Given the description of an element on the screen output the (x, y) to click on. 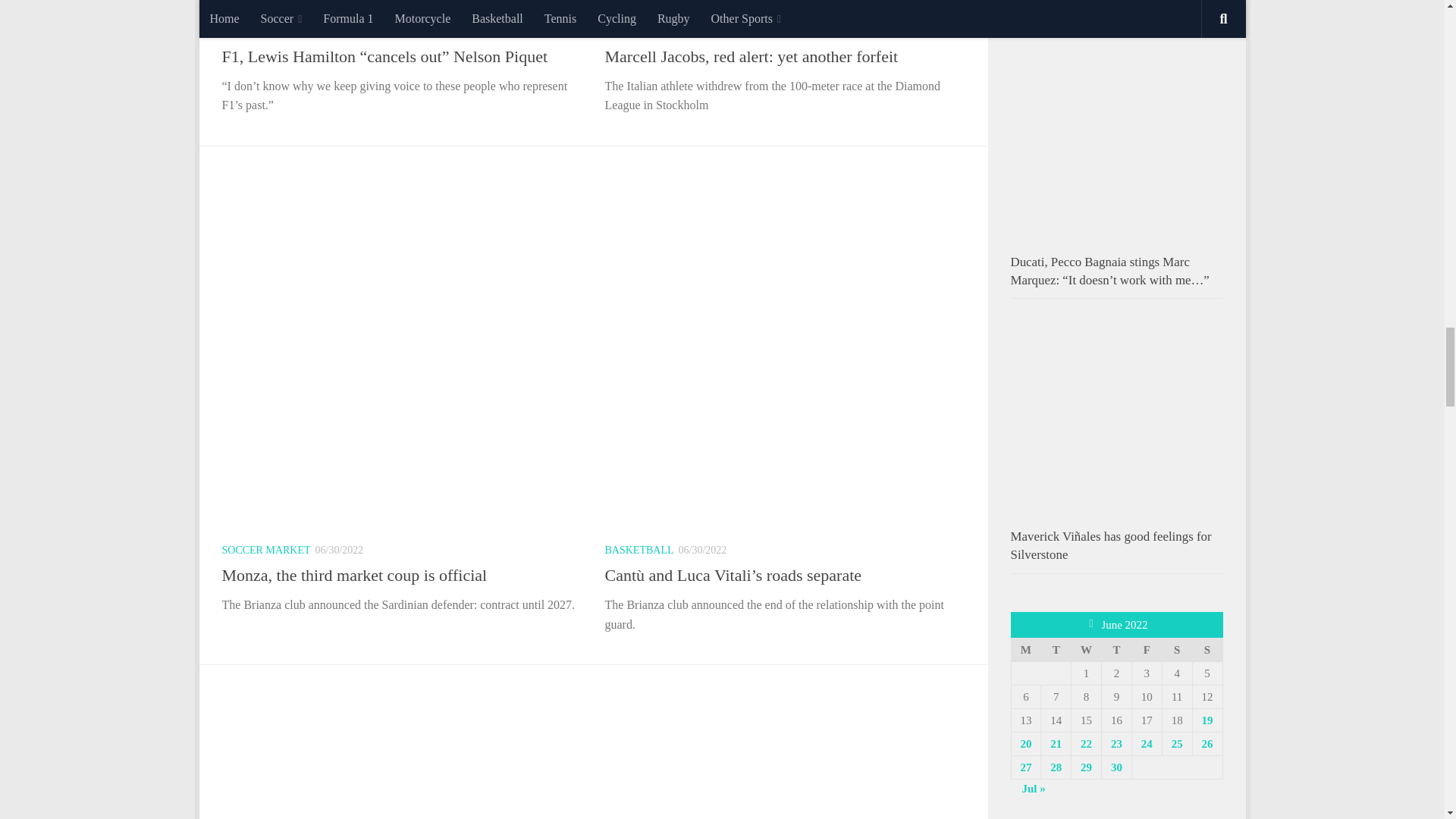
Monday (1025, 649)
Tuesday (1056, 649)
